Given the description of an element on the screen output the (x, y) to click on. 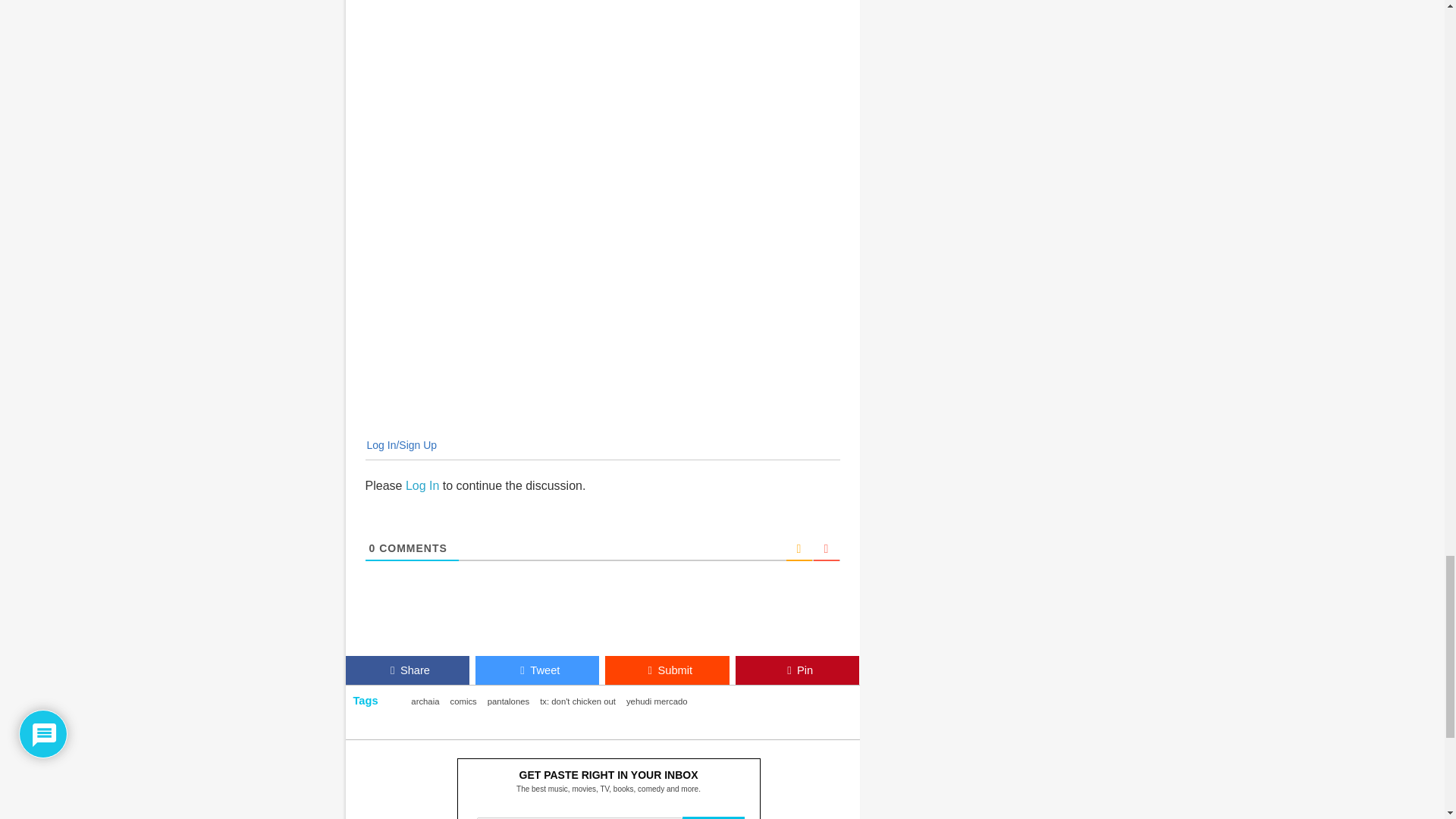
0 (371, 548)
